Given the description of an element on the screen output the (x, y) to click on. 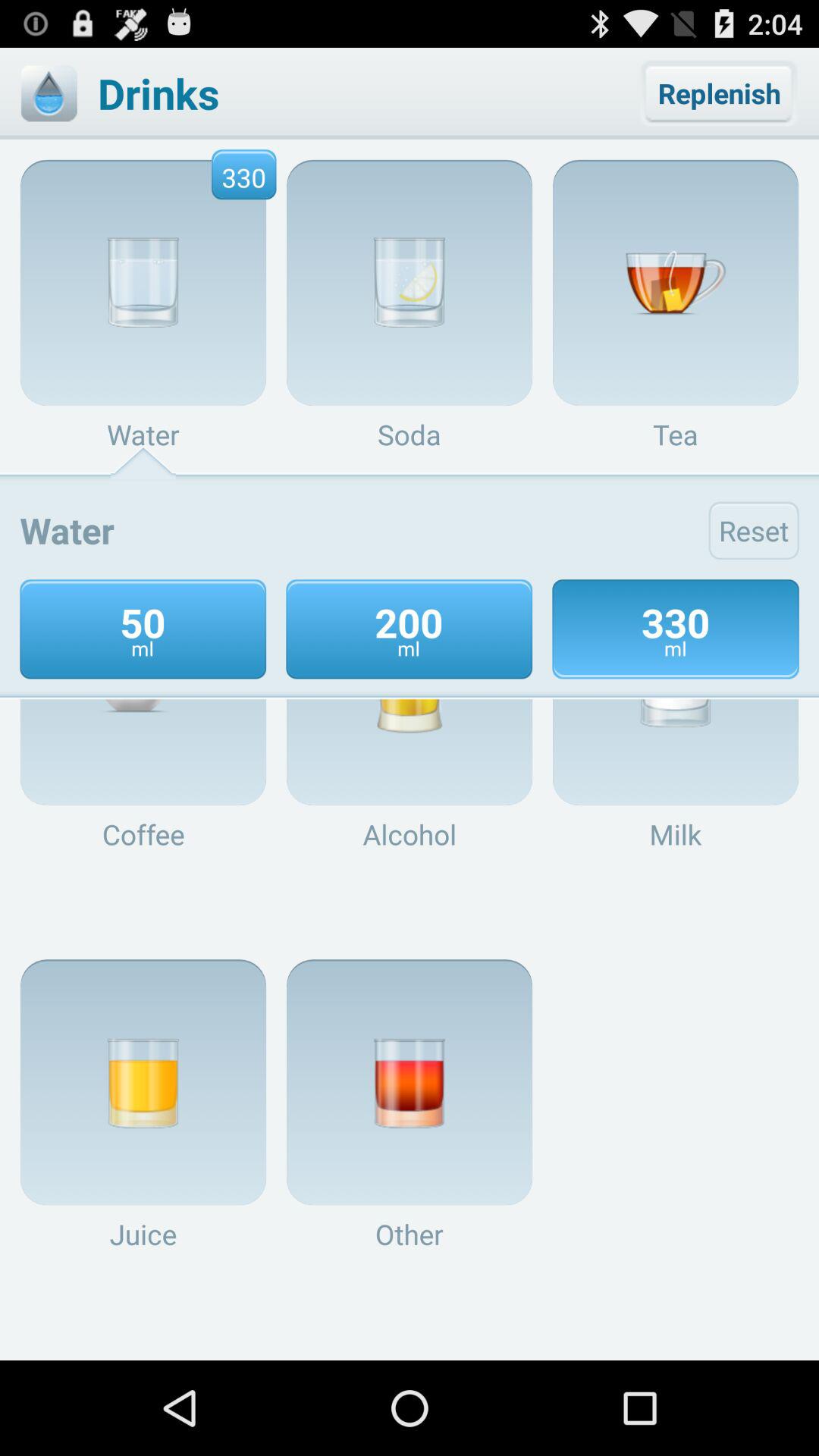
open menu (48, 93)
